Given the description of an element on the screen output the (x, y) to click on. 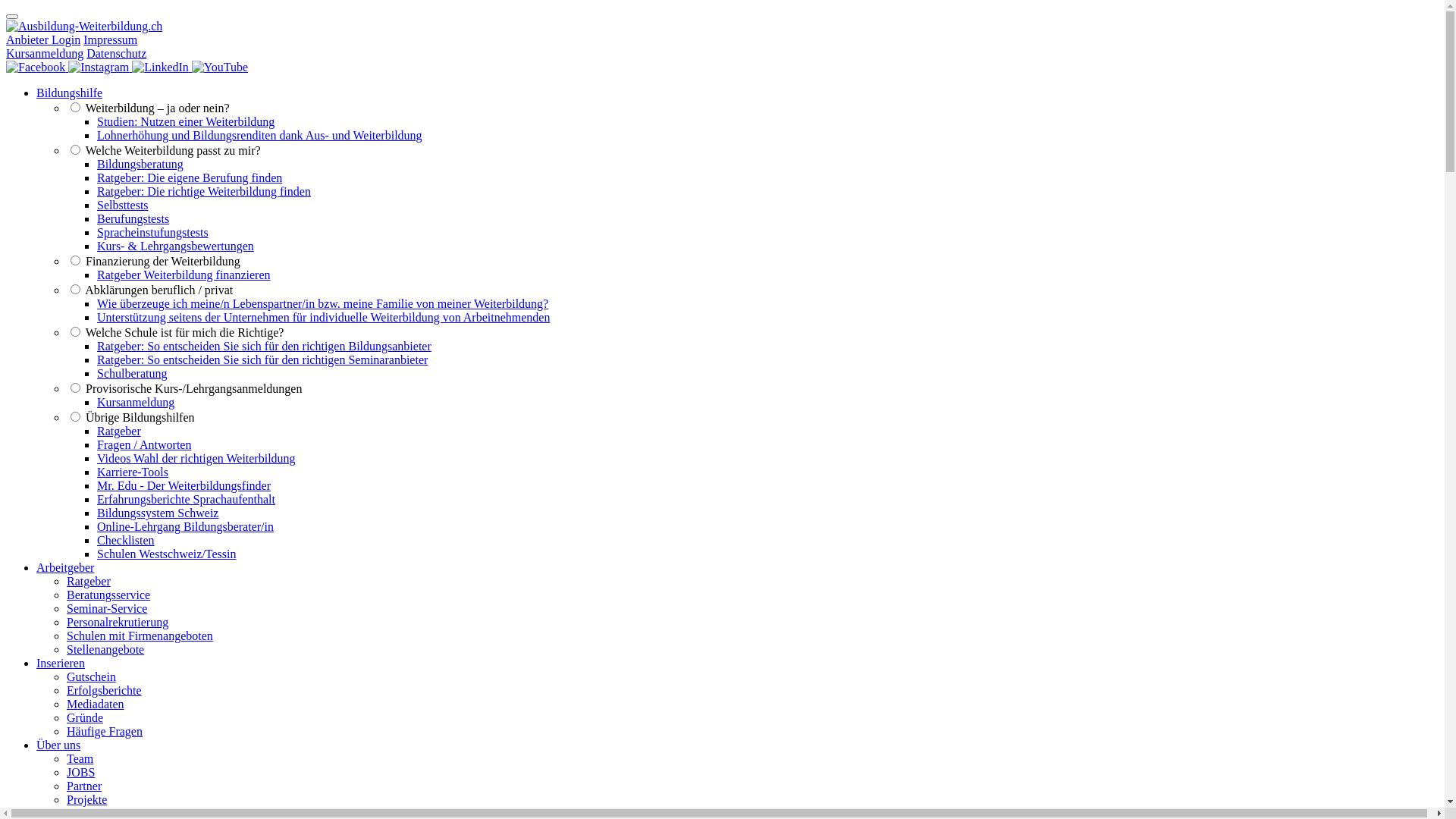
Online-Lehrgang Bildungsberater/in Element type: text (185, 526)
Kursanmeldung Element type: text (135, 401)
Schulen Westschweiz/Tessin Element type: text (166, 553)
Personalrekrutierung Element type: text (117, 621)
Ratgeber: Die richtige Weiterbildung finden Element type: text (203, 191)
Fragen / Antworten Element type: text (144, 444)
Schulberatung Element type: text (131, 373)
Seminar-Service Element type: text (106, 608)
Datenschutz Element type: text (116, 53)
Team Element type: text (79, 758)
Checklisten Element type: text (125, 539)
Ratgeber Element type: text (88, 580)
LinkedIn Element type: hover (161, 66)
Mr. Edu - Der Weiterbildungsfinder Element type: text (183, 485)
Instagram Element type: hover (99, 66)
Karriere-Tools Element type: text (132, 471)
Videos Wahl der richtigen Weiterbildung Element type: text (196, 457)
Stellenangebote Element type: text (105, 649)
Gutschein Element type: text (91, 676)
JOBS Element type: text (80, 771)
Erfolgsberichte Element type: text (103, 690)
Ratgeber Weiterbildung finanzieren Element type: text (183, 274)
Arbeitgeber Element type: text (65, 567)
Startseite Element type: hover (84, 25)
Erfahrungsberichte Sprachaufenthalt Element type: text (186, 498)
Projekte Element type: text (86, 799)
Spracheinstufungstests Element type: text (152, 231)
Facebook Element type: hover (37, 66)
Berufungstests Element type: text (133, 218)
Studien: Nutzen einer Weiterbildung Element type: text (185, 121)
Ratgeber: Die eigene Berufung finden Element type: text (189, 177)
Selbsttests Element type: text (122, 204)
Beratungsservice Element type: text (108, 594)
Inserieren Element type: text (60, 662)
Bildungsberatung Element type: text (140, 163)
Schulen mit Firmenangeboten Element type: text (139, 635)
YouTube Element type: hover (219, 66)
Bildungssystem Schweiz Element type: text (157, 512)
Impressum Element type: text (110, 39)
Mediadaten Element type: text (95, 703)
Kursanmeldung Element type: text (44, 53)
Ratgeber Element type: text (119, 430)
Kurs- & Lehrgangsbewertungen Element type: text (175, 245)
Anbieter Login Element type: text (43, 39)
Bildungshilfe Element type: text (69, 92)
Partner Element type: text (83, 785)
